Given the description of an element on the screen output the (x, y) to click on. 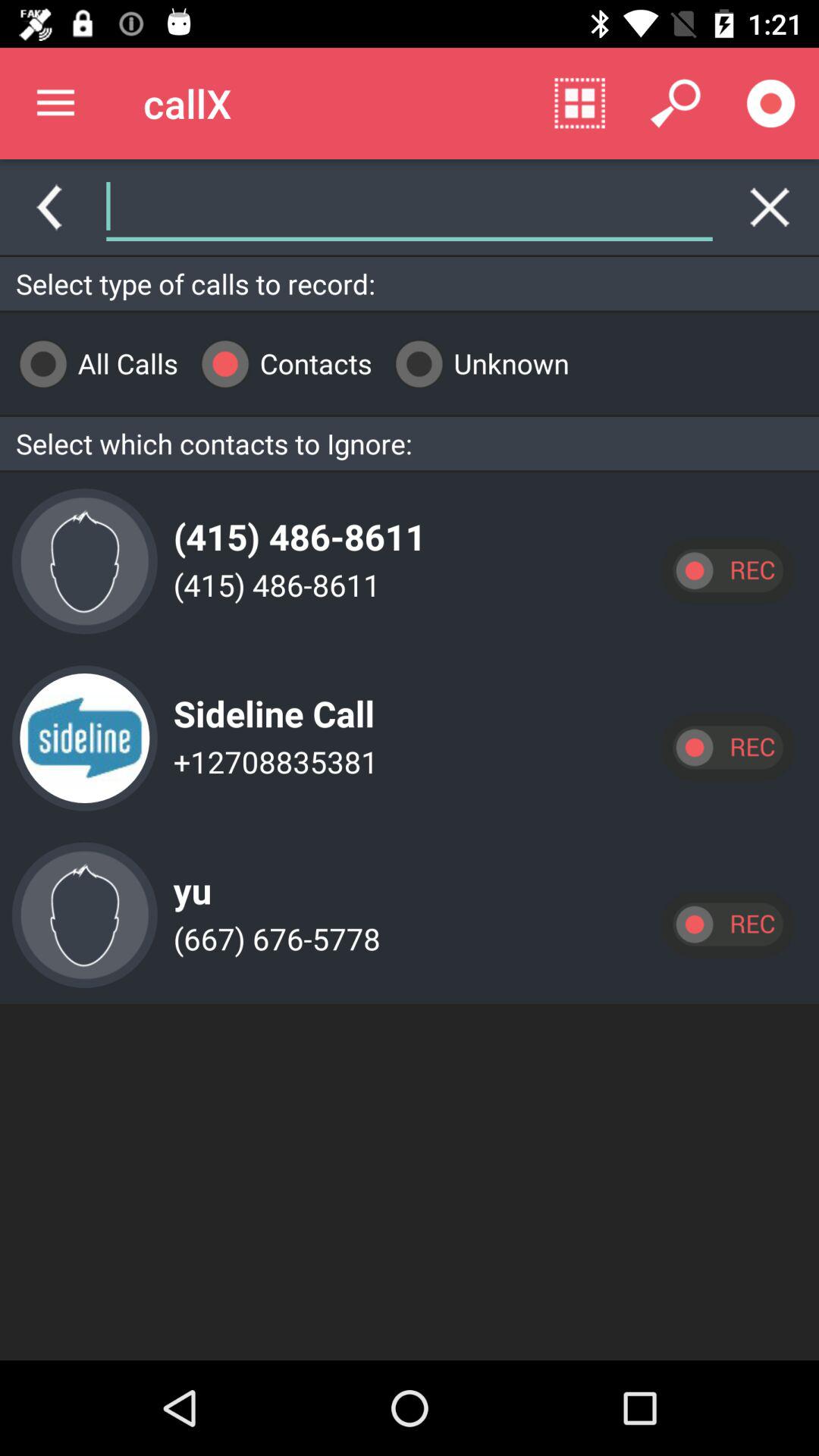
go back (49, 206)
